Given the description of an element on the screen output the (x, y) to click on. 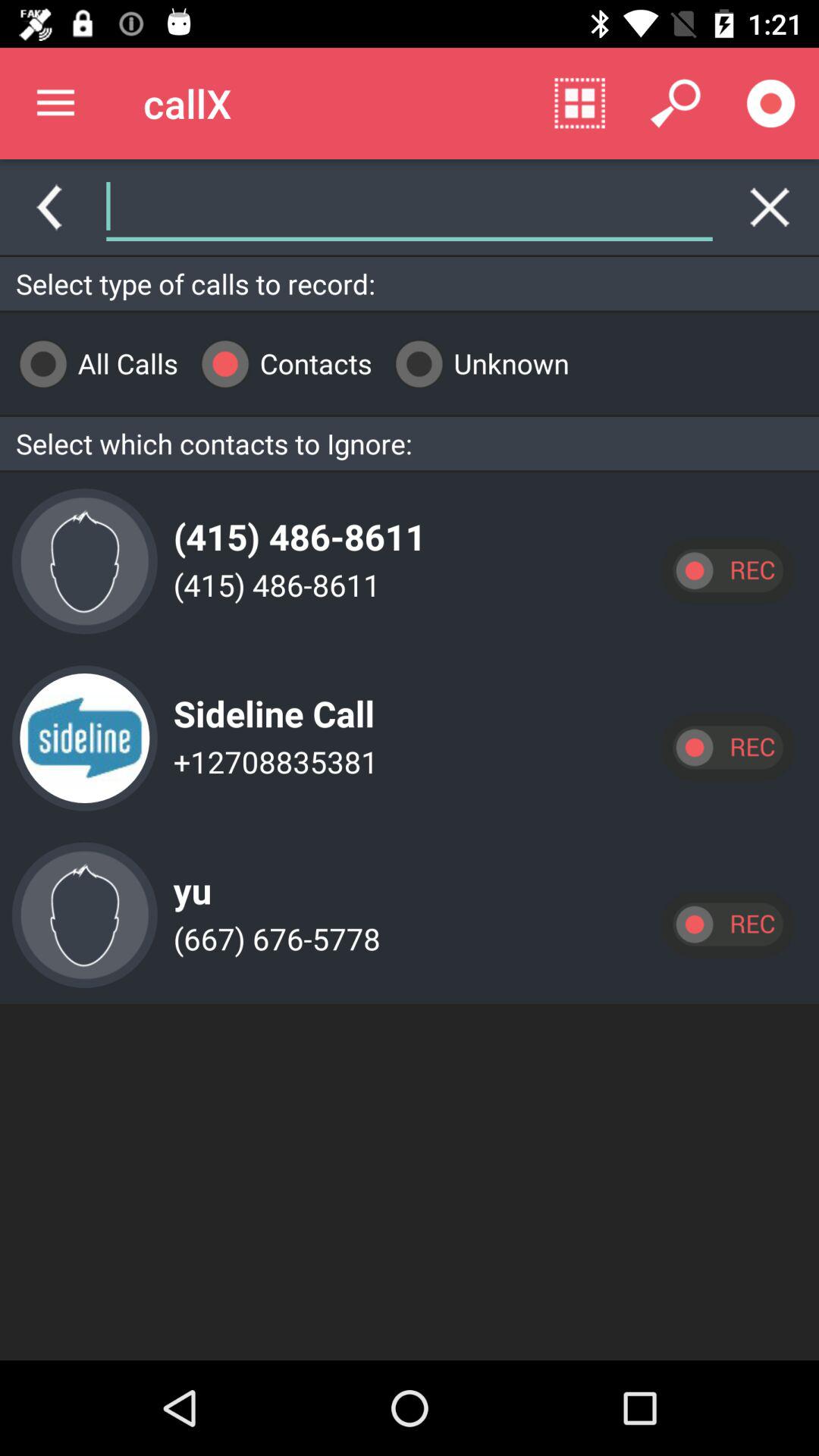
go back (49, 206)
